Given the description of an element on the screen output the (x, y) to click on. 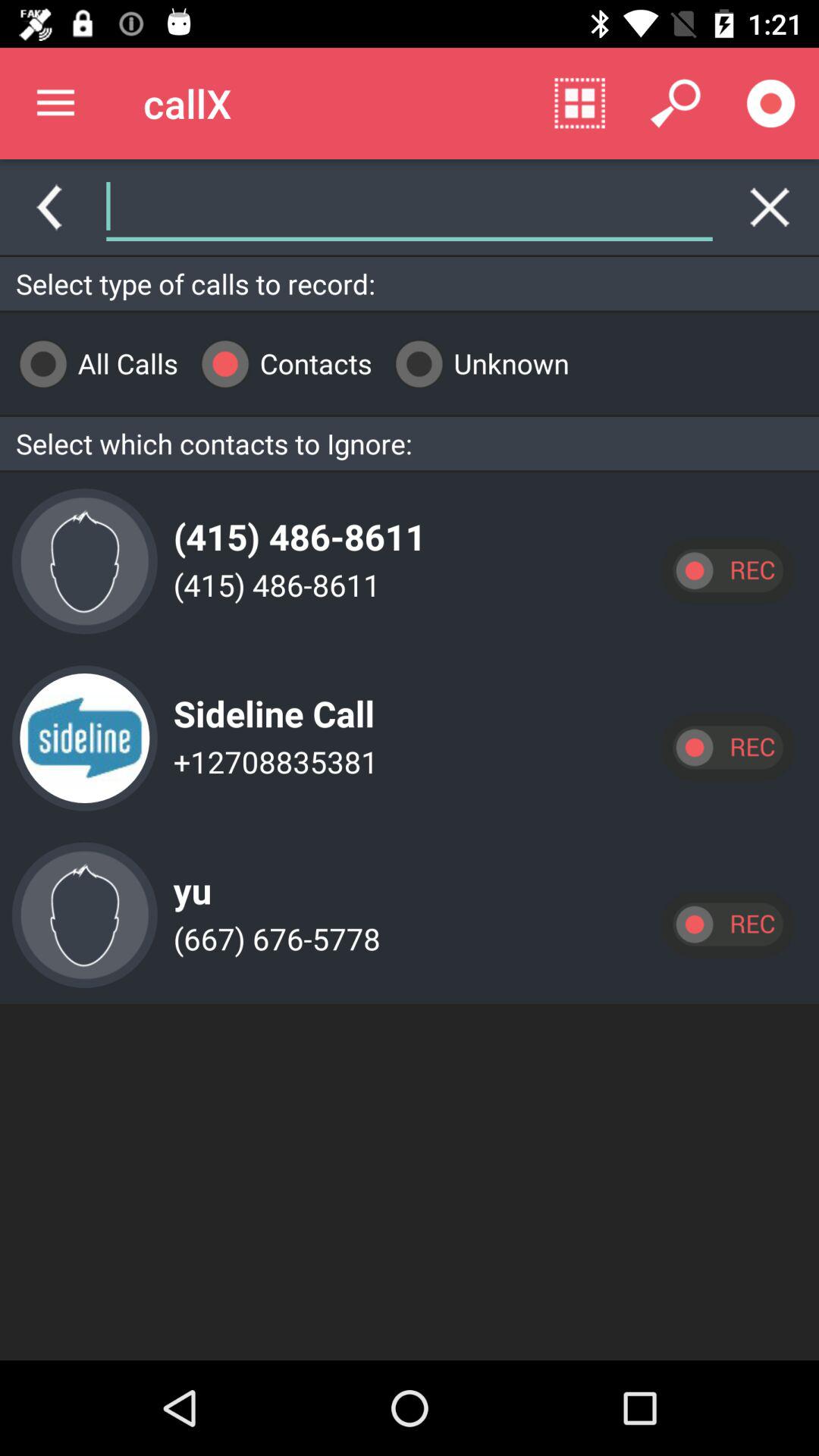
go back (49, 206)
